Given the description of an element on the screen output the (x, y) to click on. 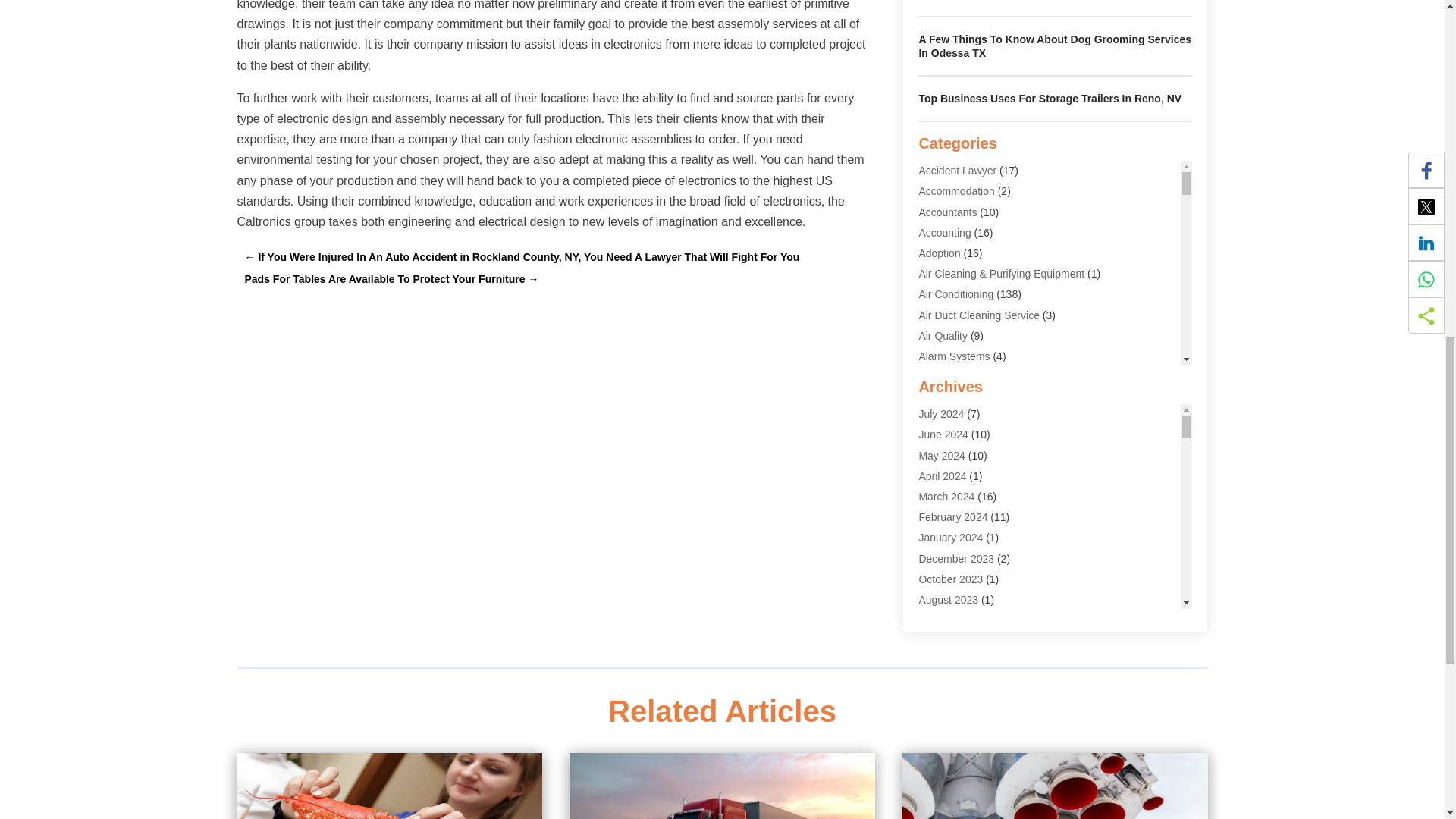
Allergies (938, 397)
Accident Lawyer (956, 170)
Alignment (941, 377)
Alarm Systems (954, 356)
Top Business Uses For Storage Trailers In Reno, NV (1049, 98)
Air Conditioning (955, 294)
Accommodation (956, 191)
Adoption (938, 253)
Aluminum Supplier (962, 459)
Air Duct Cleaning Service (978, 315)
Accountants (947, 212)
Aluminium (943, 439)
Air Quality (943, 336)
Accounting (944, 232)
